Given the description of an element on the screen output the (x, y) to click on. 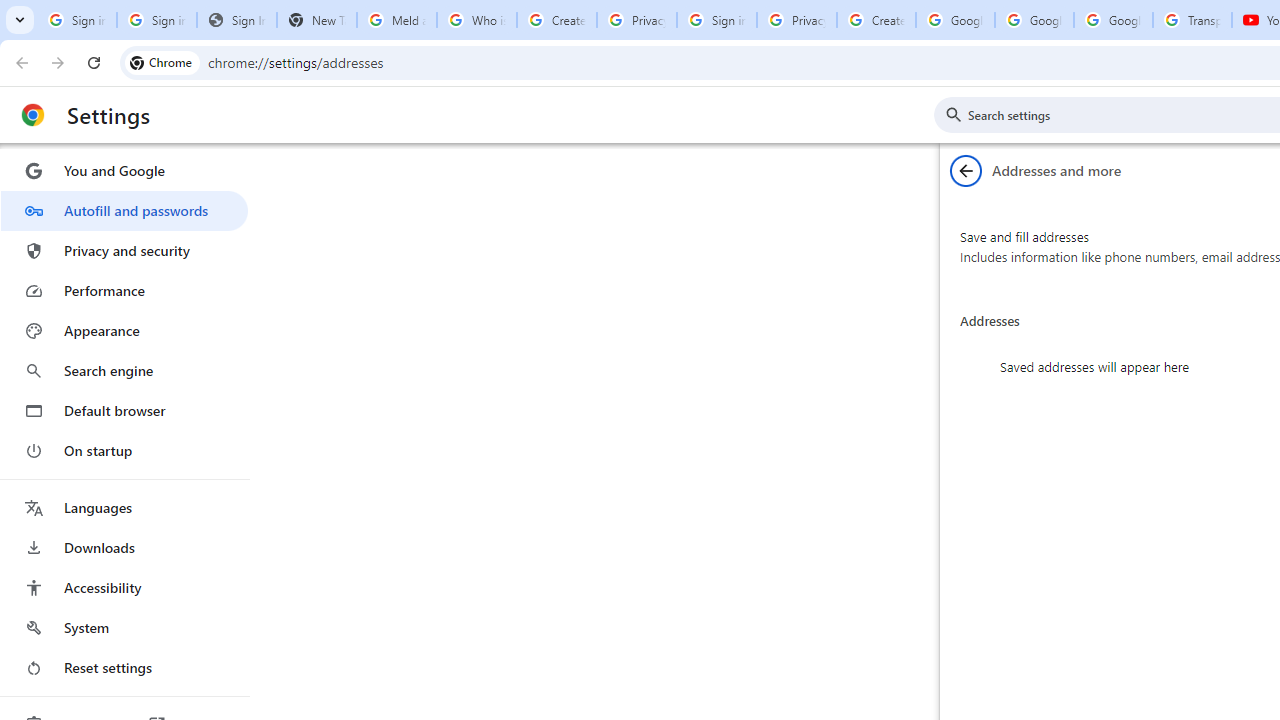
Default browser (124, 410)
Accessibility (124, 587)
